Given the description of an element on the screen output the (x, y) to click on. 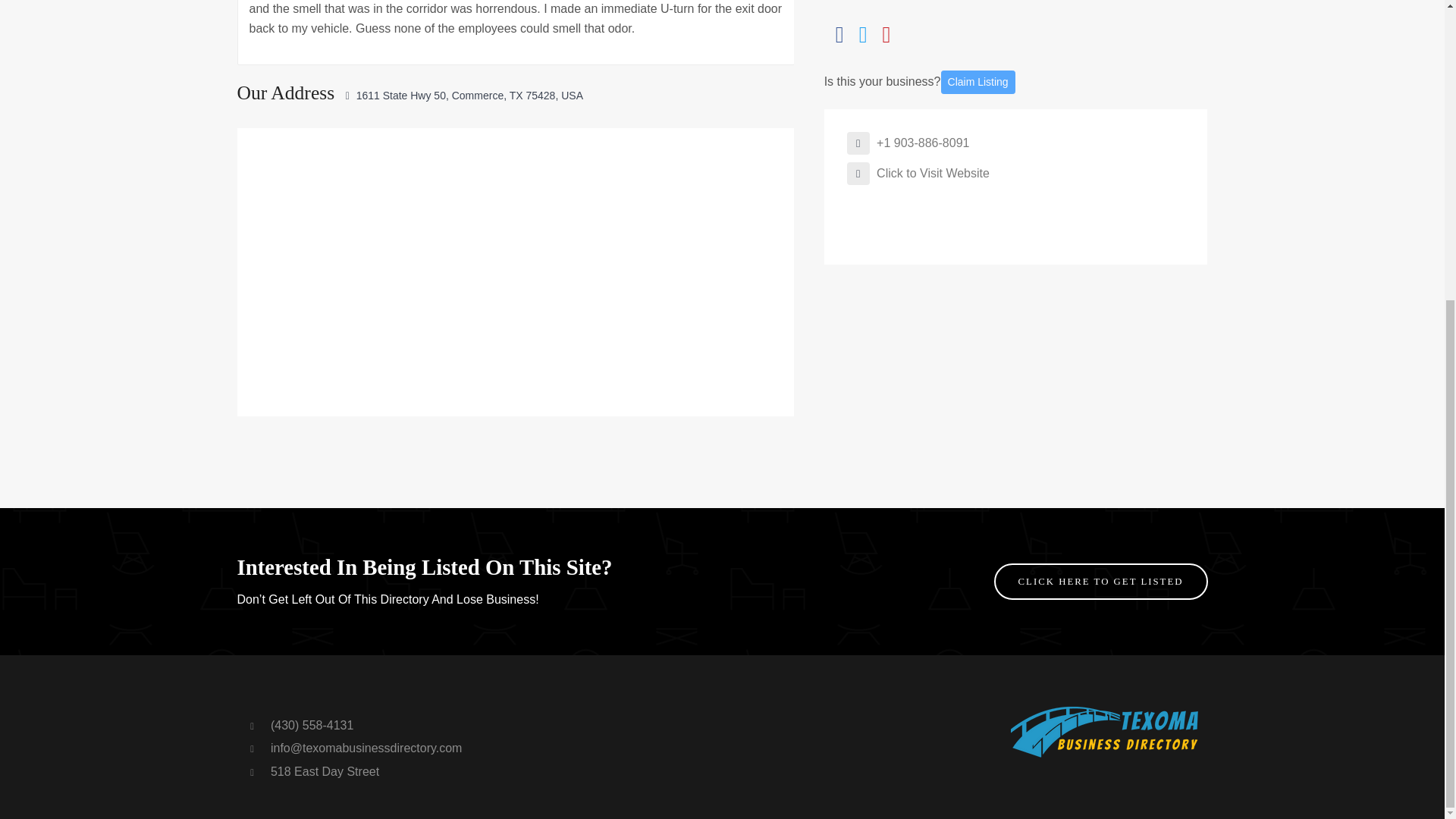
Claim Listing (977, 82)
CLICK HERE TO GET LISTED (1101, 581)
Click to Visit Website (918, 173)
